Given the description of an element on the screen output the (x, y) to click on. 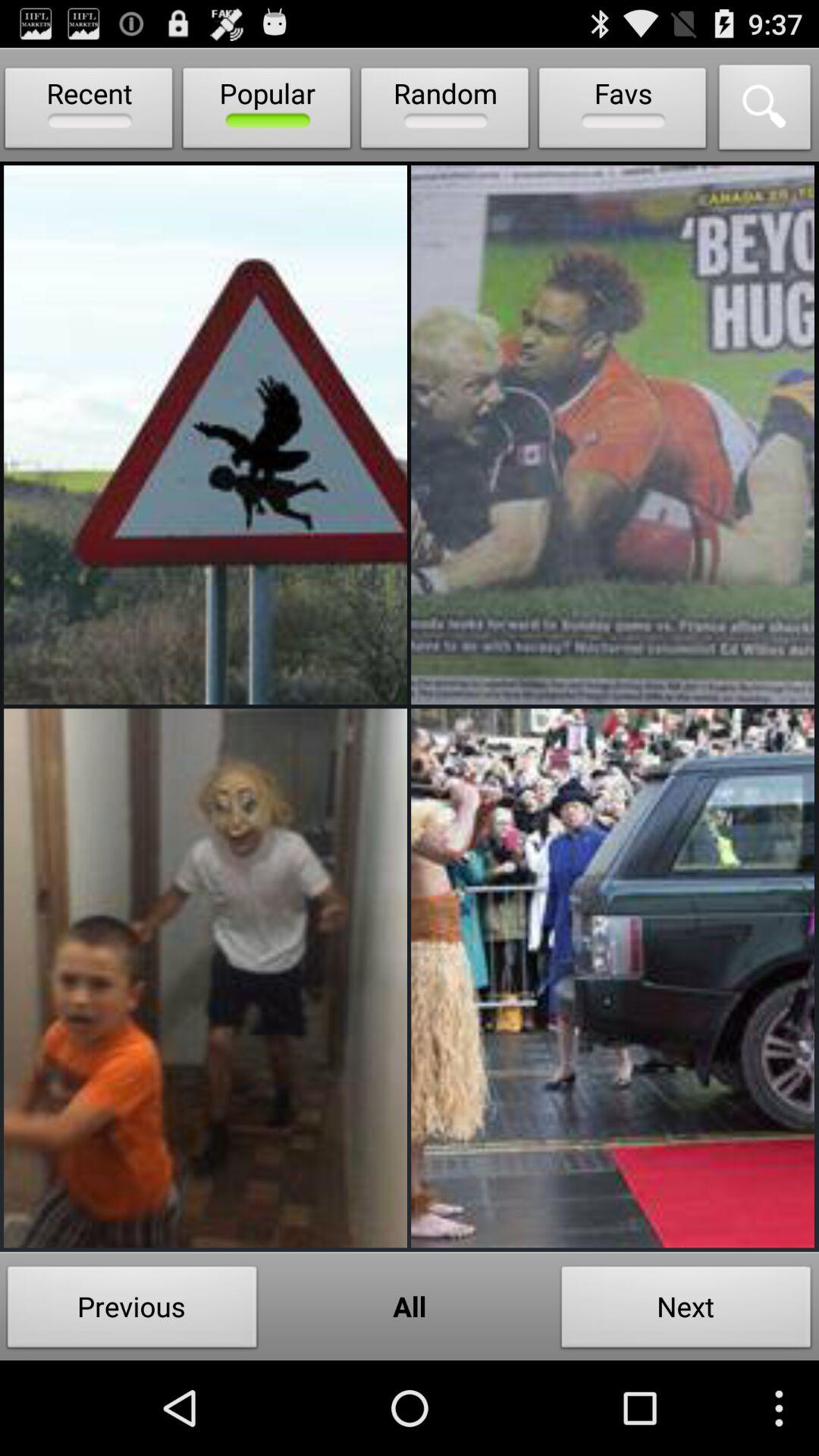
scroll to random icon (445, 111)
